Given the description of an element on the screen output the (x, y) to click on. 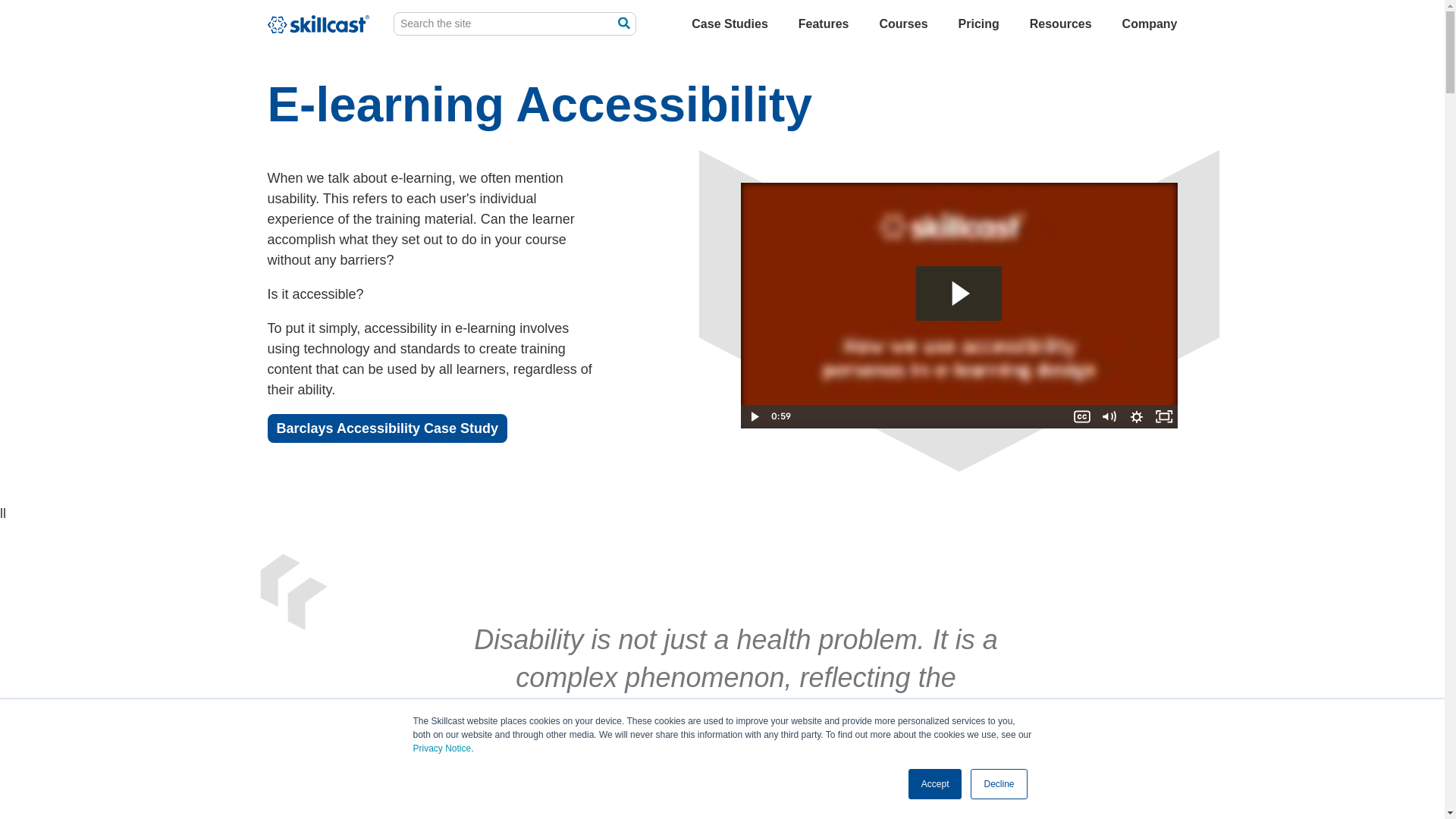
Privacy Notice (441, 747)
Barclays Accessibility Case Study (386, 428)
Show settings menu (1136, 416)
Accept (935, 784)
Case Studies (729, 24)
Decline (998, 784)
